Given the description of an element on the screen output the (x, y) to click on. 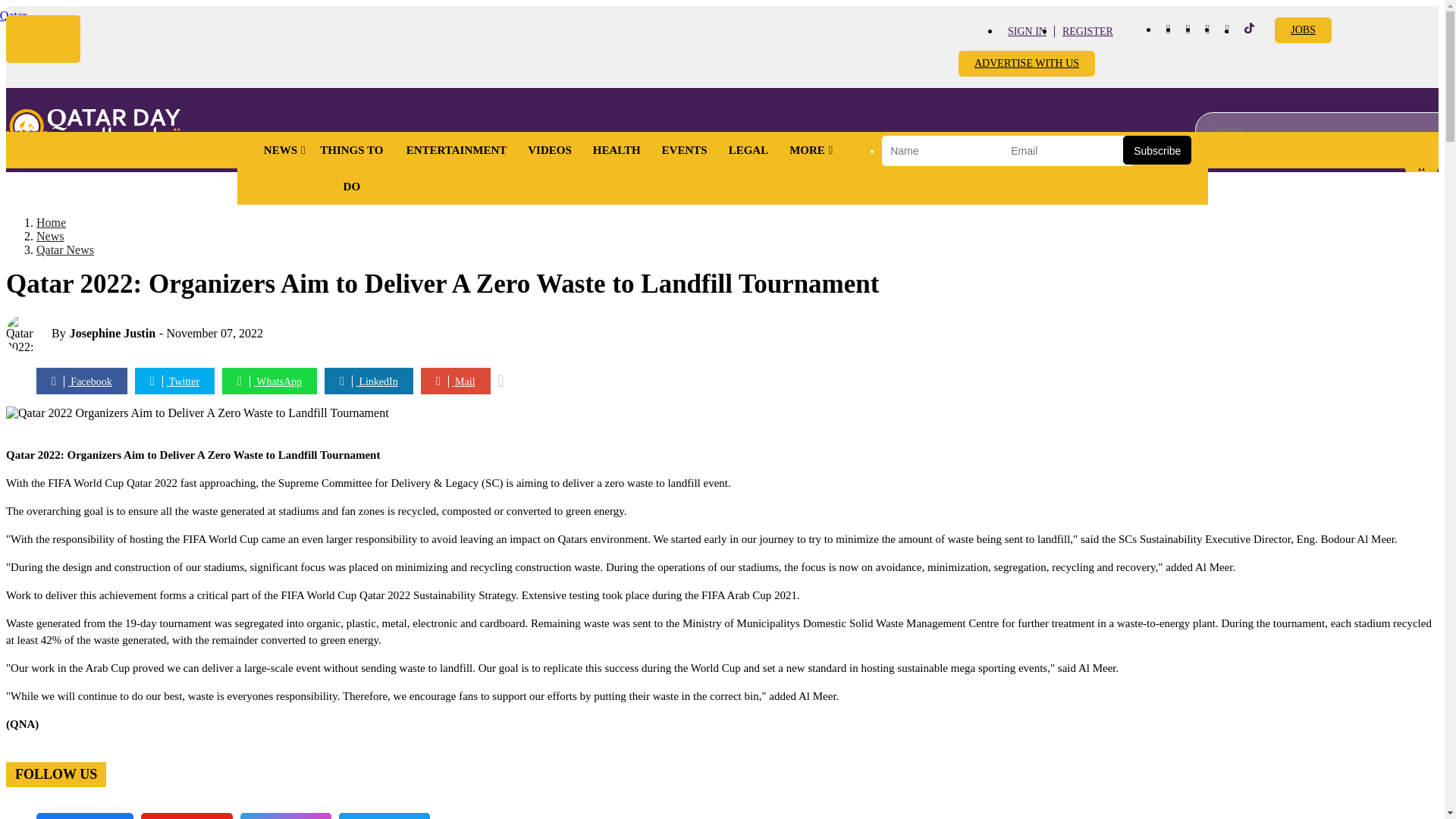
EVENTS (683, 149)
SIGN IN (1027, 30)
Tiktok (1249, 30)
MORE (806, 149)
LEGAL (747, 149)
Home (92, 129)
JOBS (1303, 30)
LinkedIn (1226, 29)
ADVERTISE WITH US (1026, 63)
THINGS TO DO (351, 167)
ENTERTAINMENT (457, 149)
Doha, Qatar (13, 15)
Instagram (1187, 29)
Facebook (1167, 29)
HEALTH (616, 149)
